Given the description of an element on the screen output the (x, y) to click on. 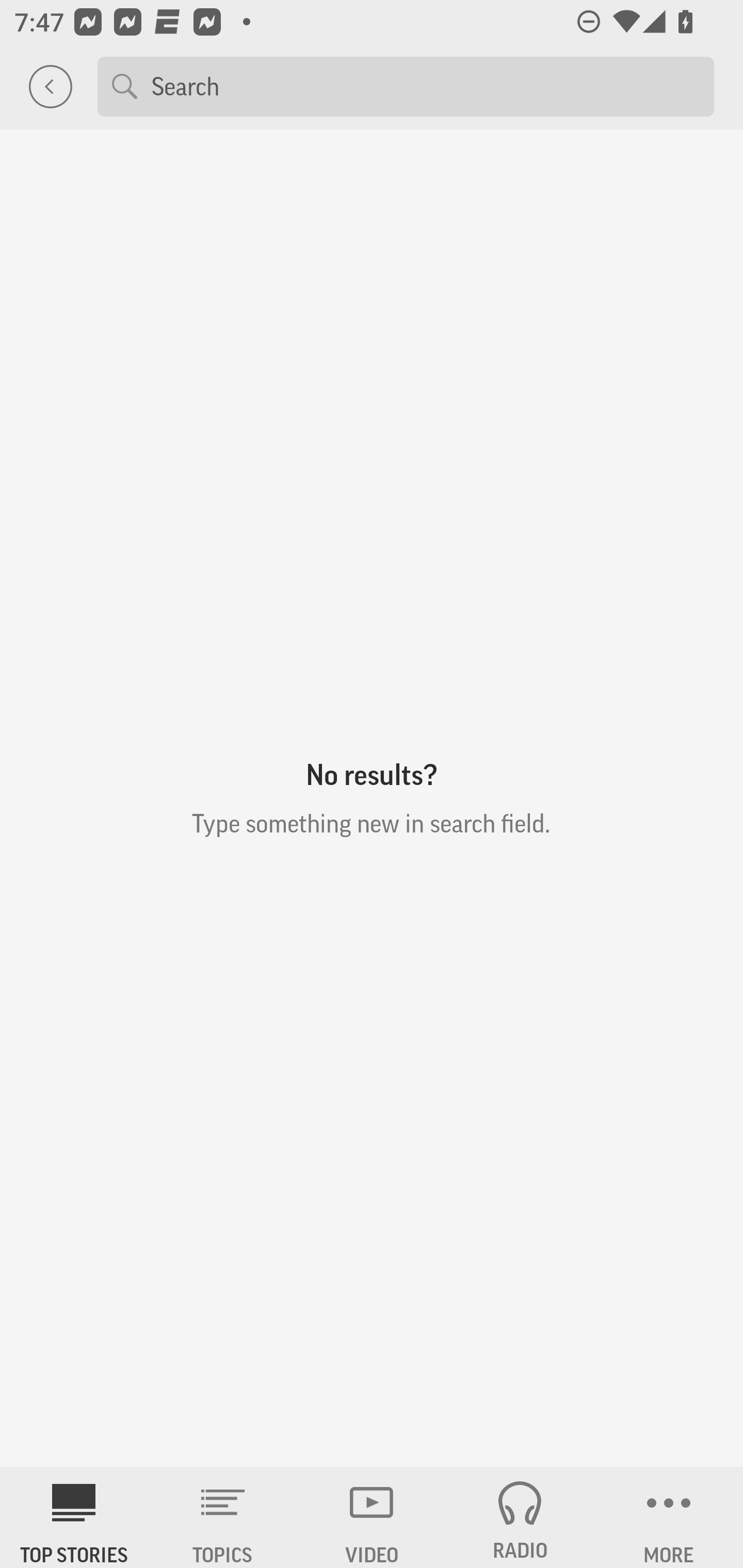
Search (425, 86)
AP News TOP STORIES (74, 1517)
TOPICS (222, 1517)
VIDEO (371, 1517)
RADIO (519, 1517)
MORE (668, 1517)
